Given the description of an element on the screen output the (x, y) to click on. 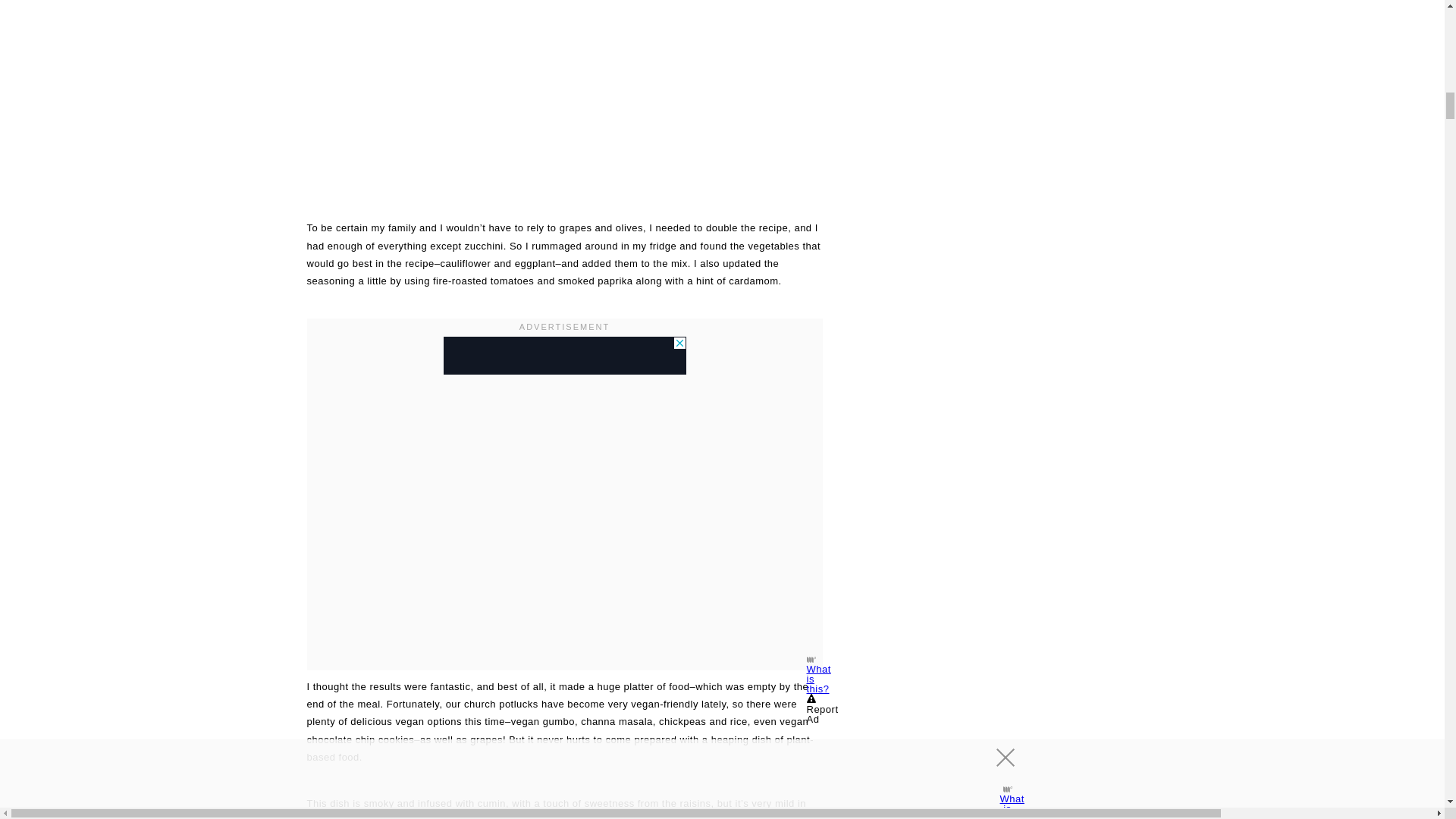
3rd party ad content (563, 355)
sambal oelek (561, 816)
Cumin-Infused Vegetables and Chickpeas over Quinoa (563, 95)
